Given the description of an element on the screen output the (x, y) to click on. 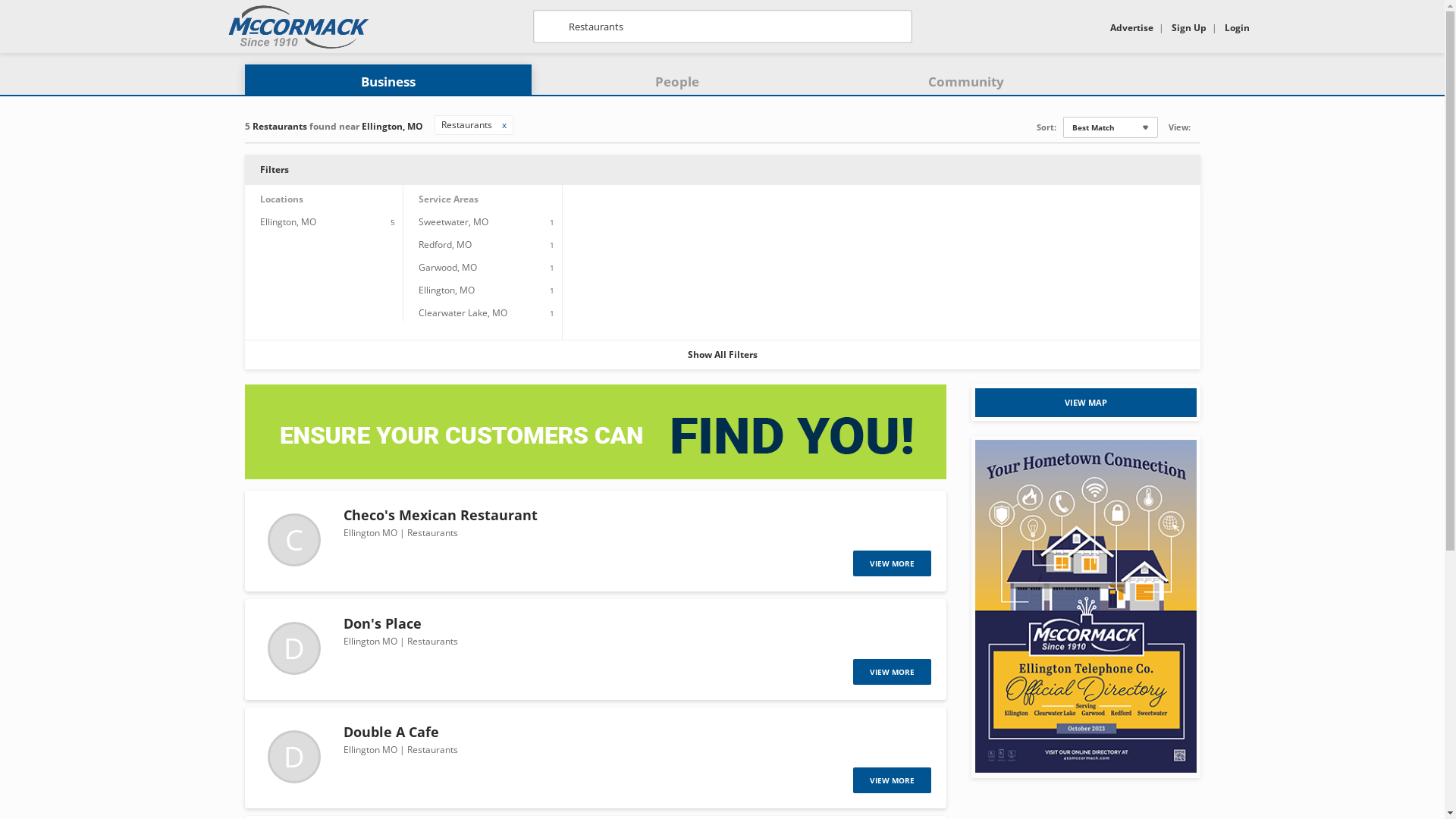
Redford, MO Element type: text (444, 244)
Checo's Mexican Restaurant Element type: text (439, 514)
Sign Up Element type: text (1187, 27)
Double A Cafe Element type: text (390, 731)
VIEW MORE Element type: text (891, 671)
Show All Filters Element type: text (721, 354)
x Element type: text (504, 124)
Filters Element type: text (721, 169)
Sweetwater, MO Element type: text (453, 221)
Don's Place Element type: text (381, 623)
Community Element type: text (966, 81)
Advertise Element type: text (1131, 27)
Ellington, MO Element type: text (287, 221)
People Element type: text (677, 81)
Show Open Element type: hover (1196, 126)
VIEW MAP Element type: text (1085, 402)
Clearwater Lake, MO Element type: text (462, 312)
Garwood, MO Element type: text (447, 266)
Login Element type: text (1235, 27)
Ellington, MO Element type: text (446, 289)
VIEW MORE Element type: text (891, 780)
VIEW MORE Element type: text (891, 563)
